Given the description of an element on the screen output the (x, y) to click on. 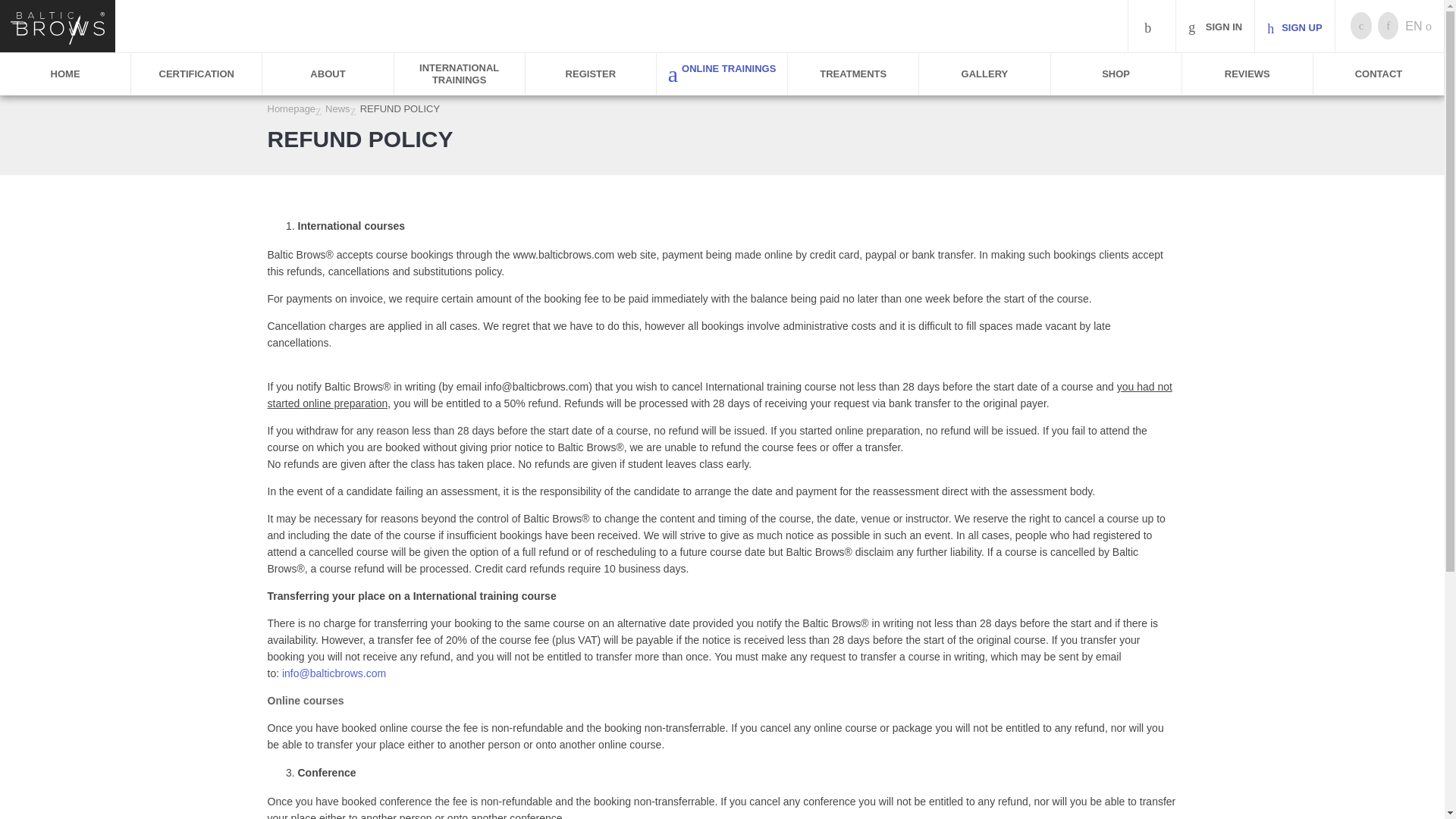
Baltic Brows (57, 28)
